Given the description of an element on the screen output the (x, y) to click on. 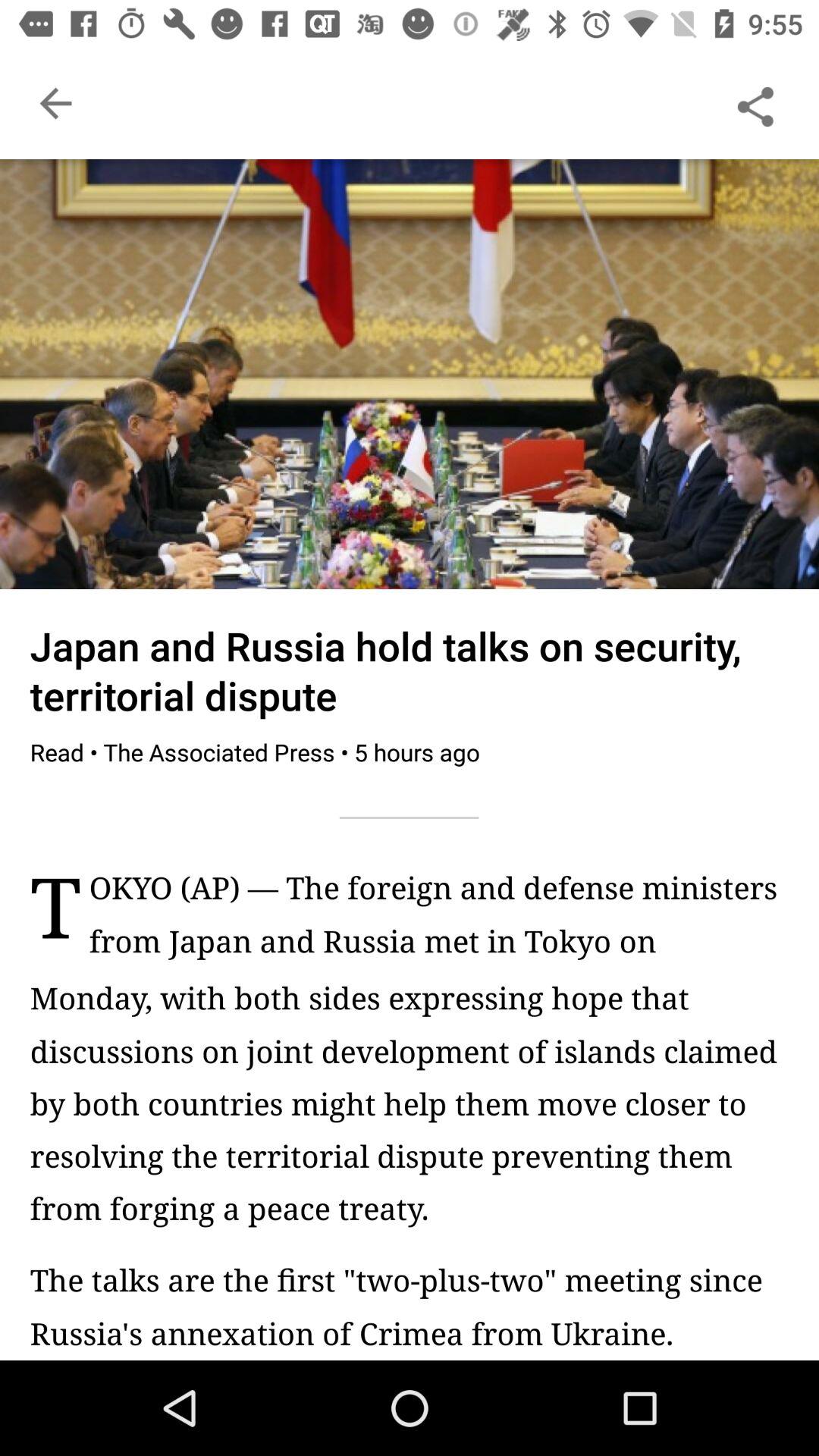
turn off monday with both item (409, 1102)
